Given the description of an element on the screen output the (x, y) to click on. 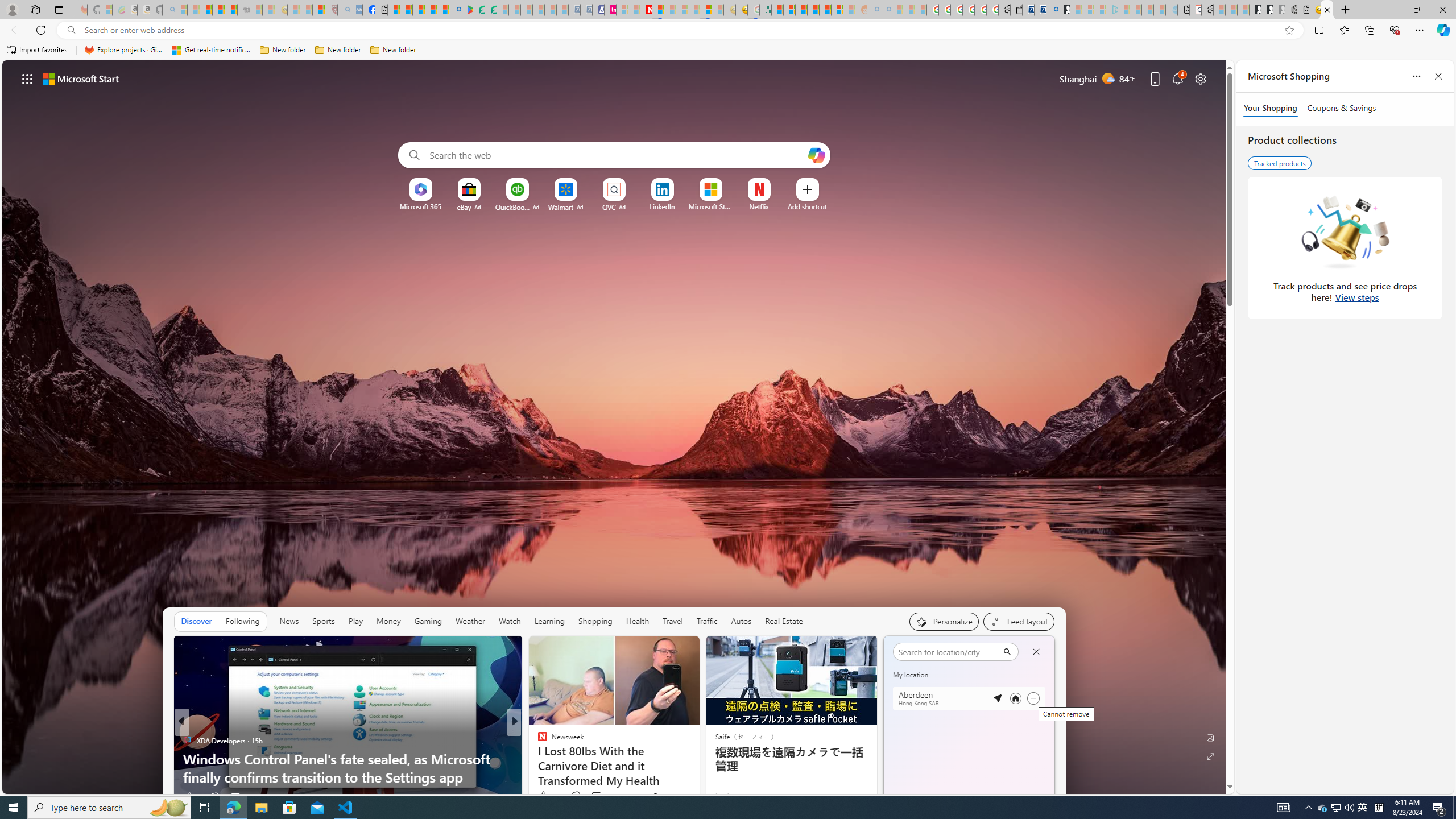
Class: icon-img (1037, 649)
82 Like (543, 796)
App launcher (27, 78)
186 Like (545, 796)
Microsoft start (81, 78)
I Lost 45 Pounds and Kept It Off With These Simple Changes (697, 767)
194 Like (545, 796)
Pets - MSN (431, 9)
Search icon (70, 29)
